Given the description of an element on the screen output the (x, y) to click on. 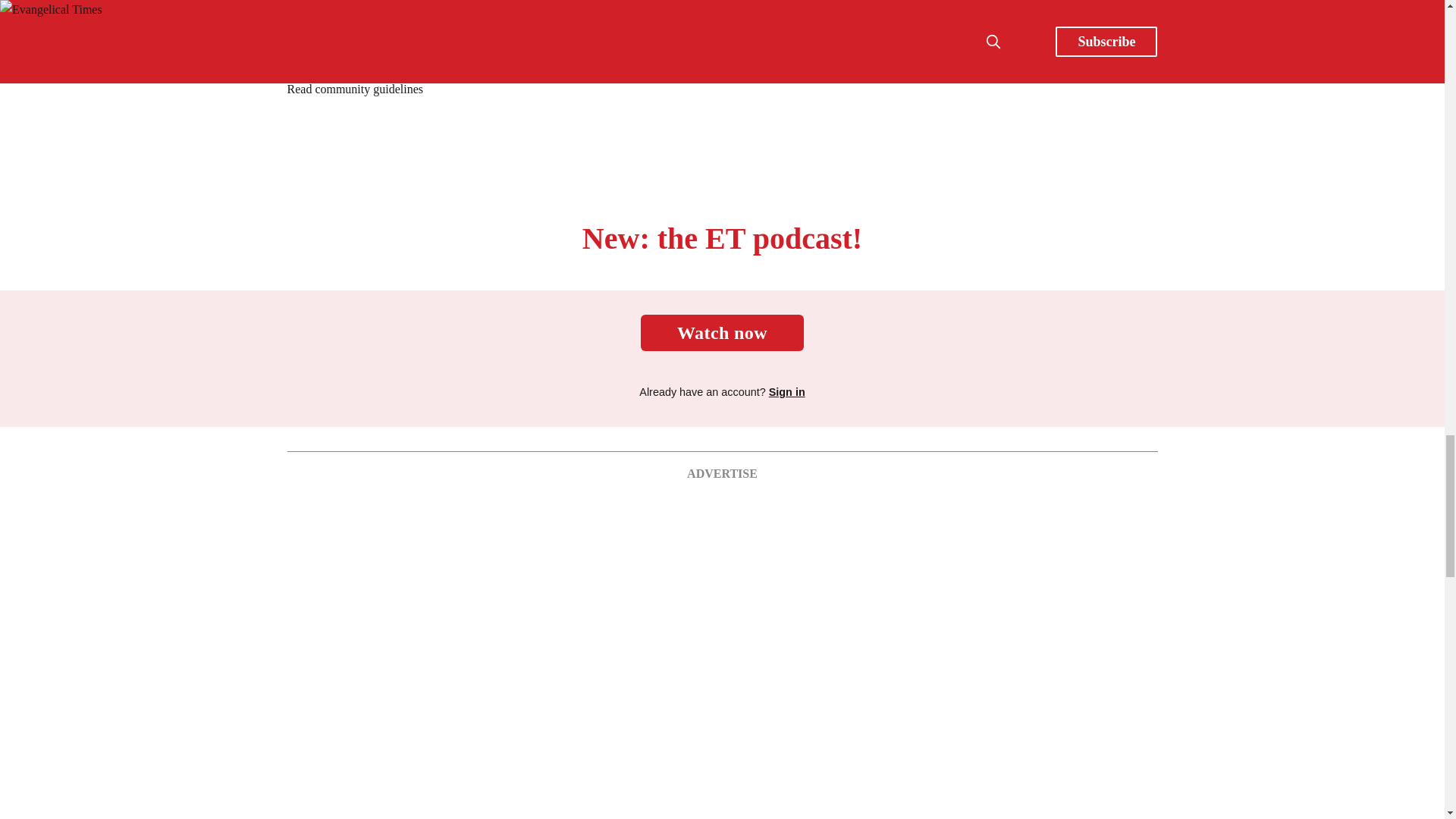
Read community guidelines (354, 88)
Slava Viazovski (703, 7)
Sign in (786, 391)
General (517, 7)
Watch now (721, 332)
